Given the description of an element on the screen output the (x, y) to click on. 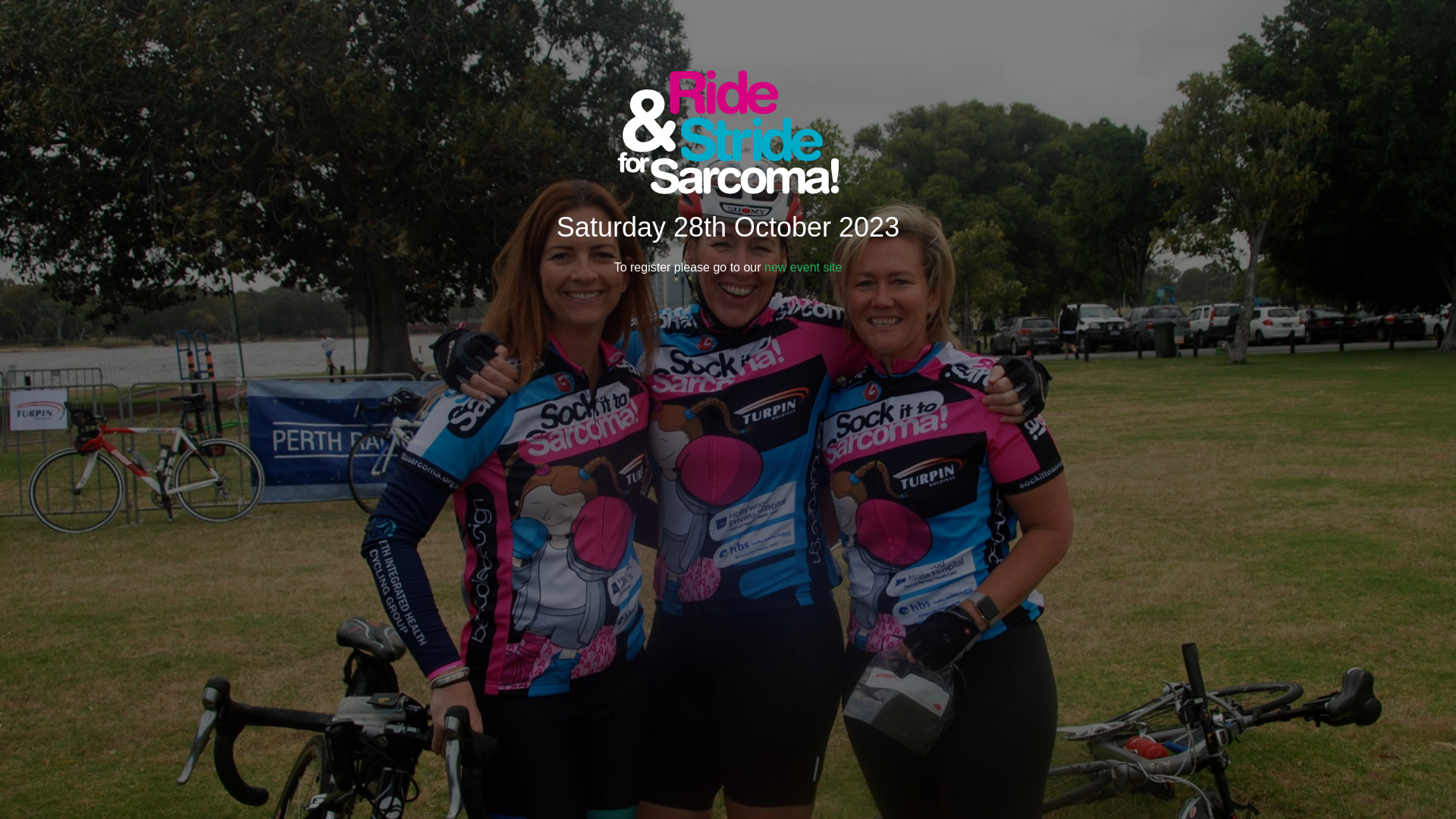
new event site Element type: text (802, 266)
